Given the description of an element on the screen output the (x, y) to click on. 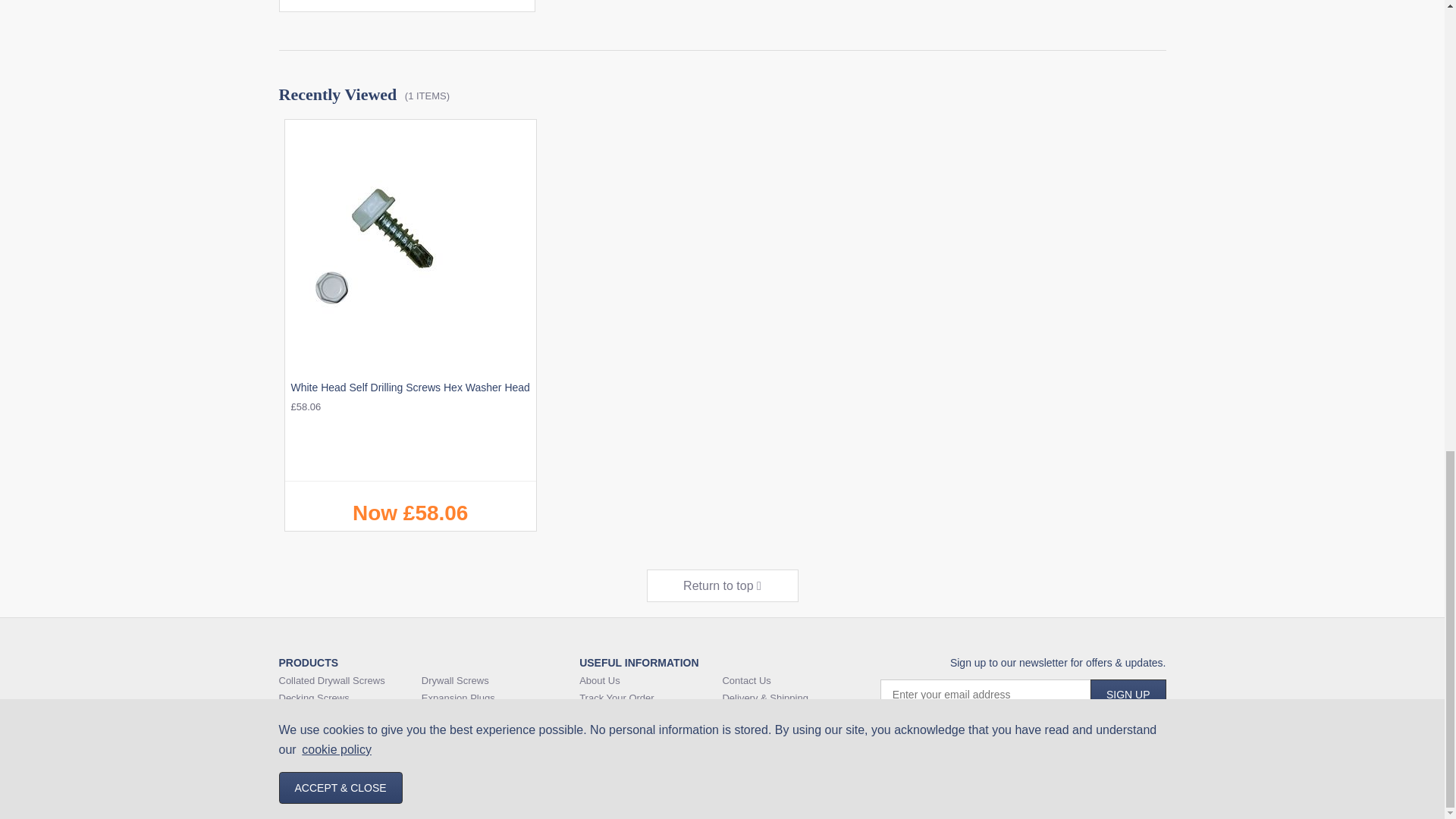
PIXUS Website Designers (902, 802)
Sign Up (1128, 694)
White Head Self Drilling Screws Hex Washer Head  (409, 324)
